Given the description of an element on the screen output the (x, y) to click on. 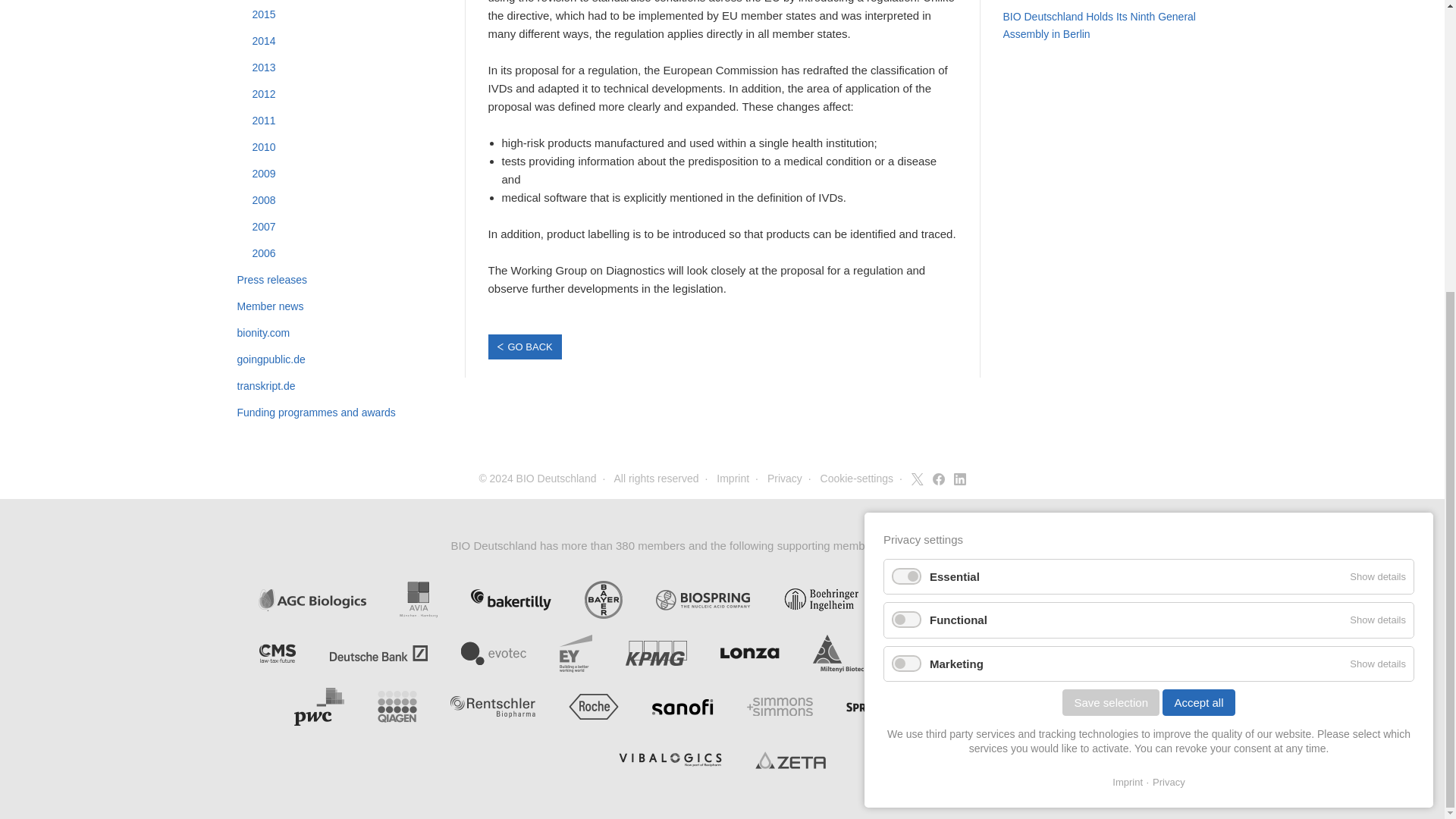
GO BACK (524, 346)
